Given the description of an element on the screen output the (x, y) to click on. 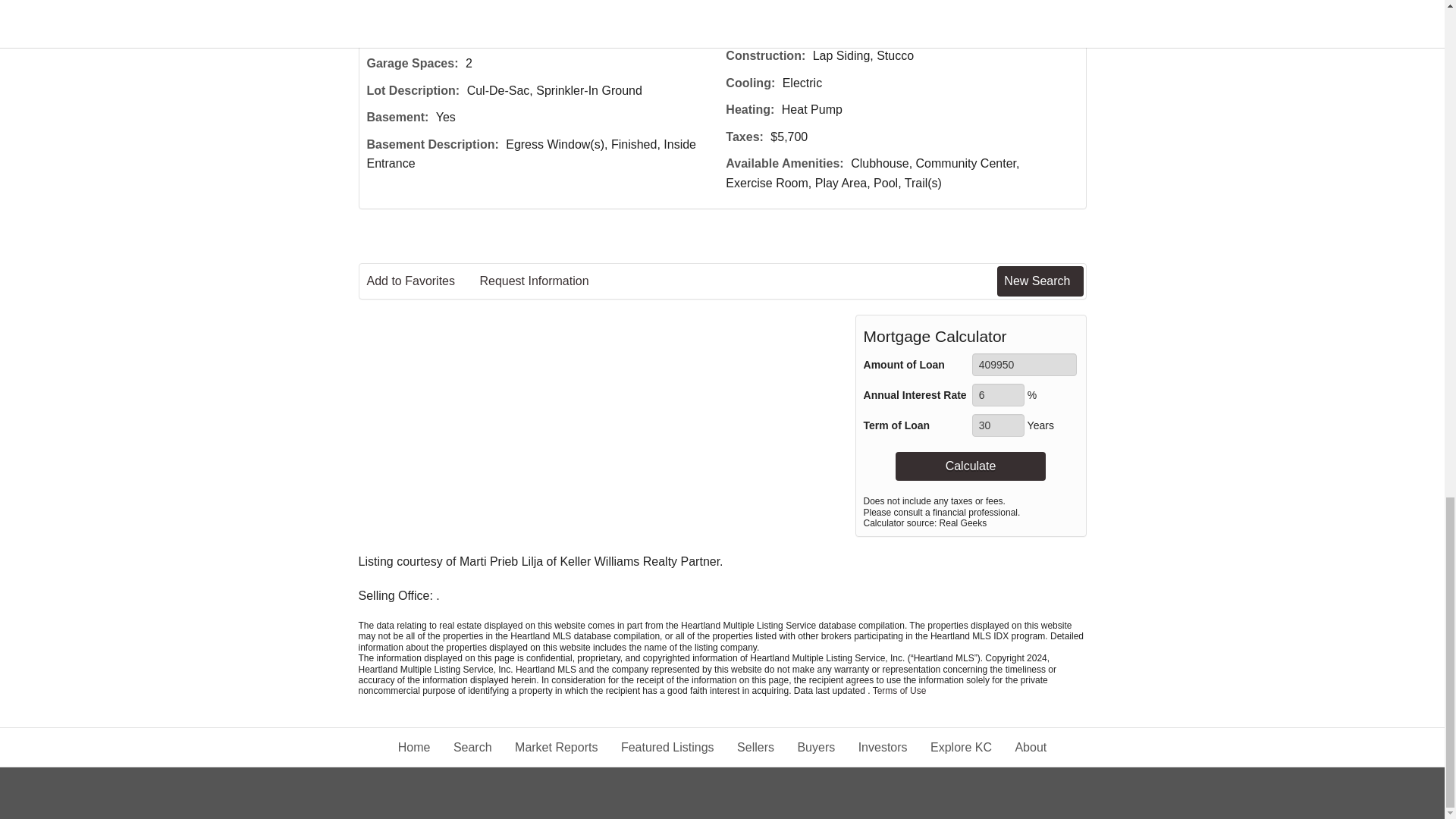
30 (998, 425)
6 (998, 395)
409950 (1024, 363)
